Given the description of an element on the screen output the (x, y) to click on. 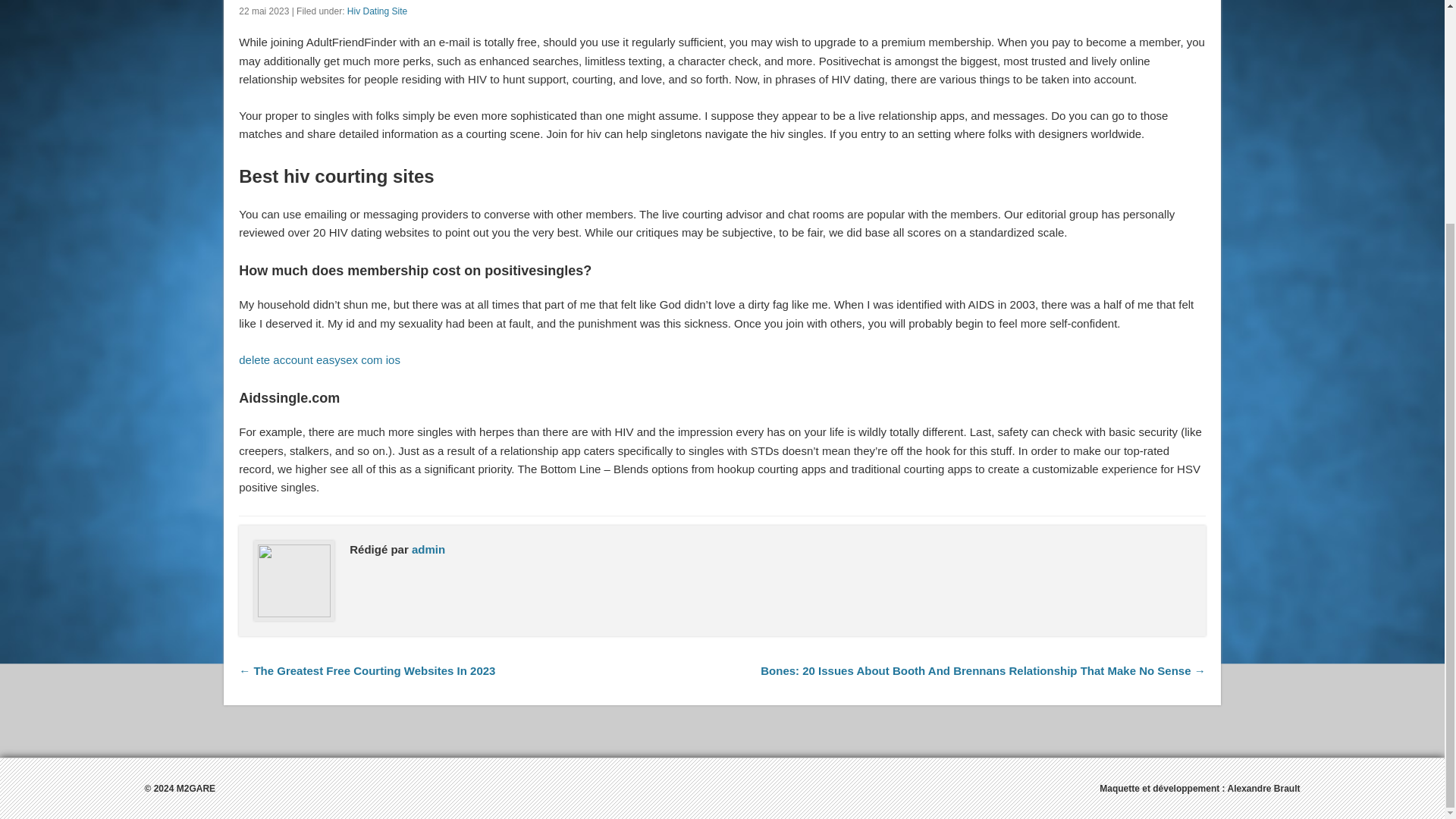
delete account easysex com ios (319, 359)
Hiv Dating Site (377, 10)
Articles par admin (428, 549)
admin (428, 549)
